Given the description of an element on the screen output the (x, y) to click on. 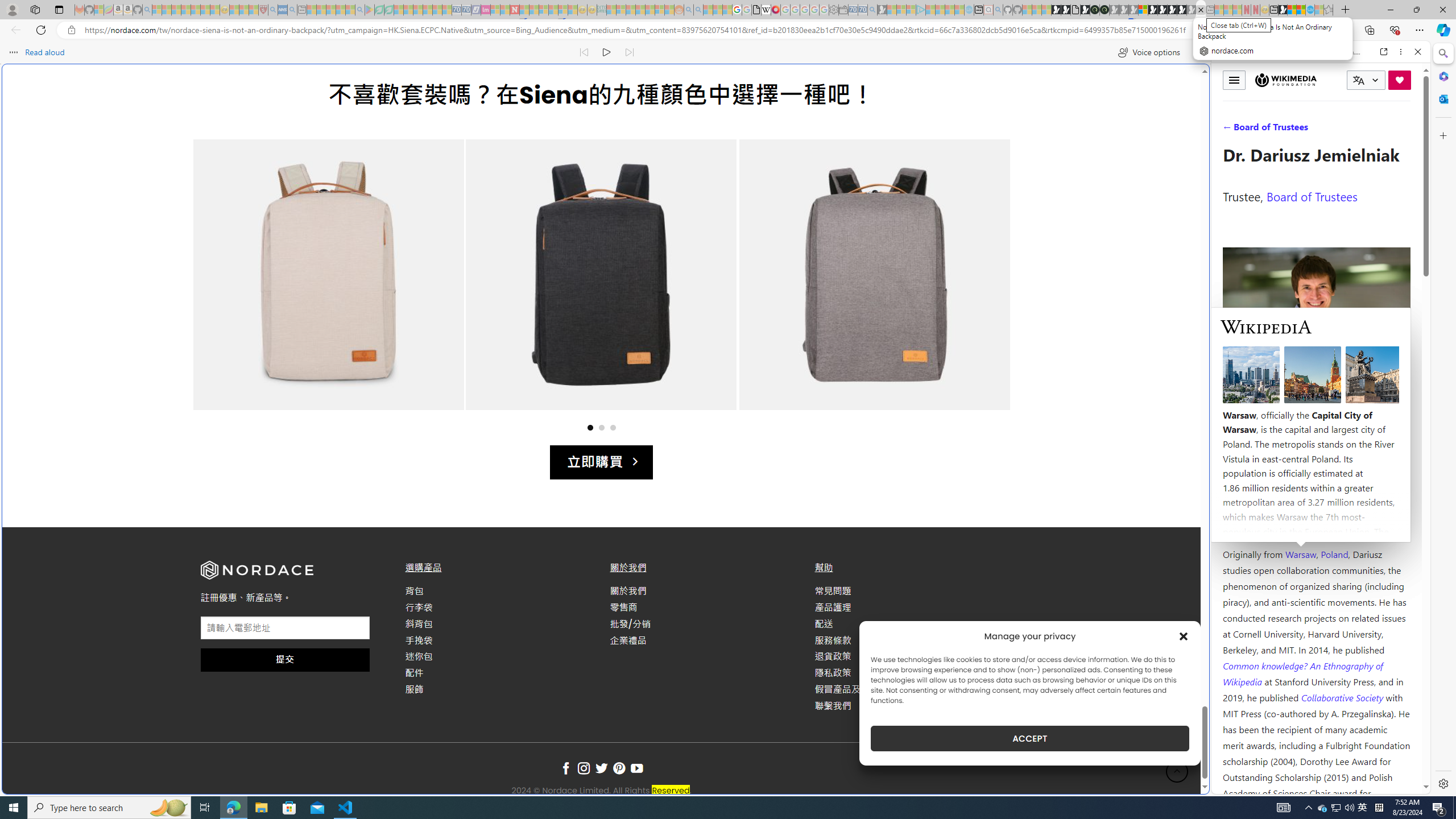
Close split screen (1208, 57)
Services - Maintenance | Sky Blue Bikes - Sky Blue Bikes (1309, 9)
